Given the description of an element on the screen output the (x, y) to click on. 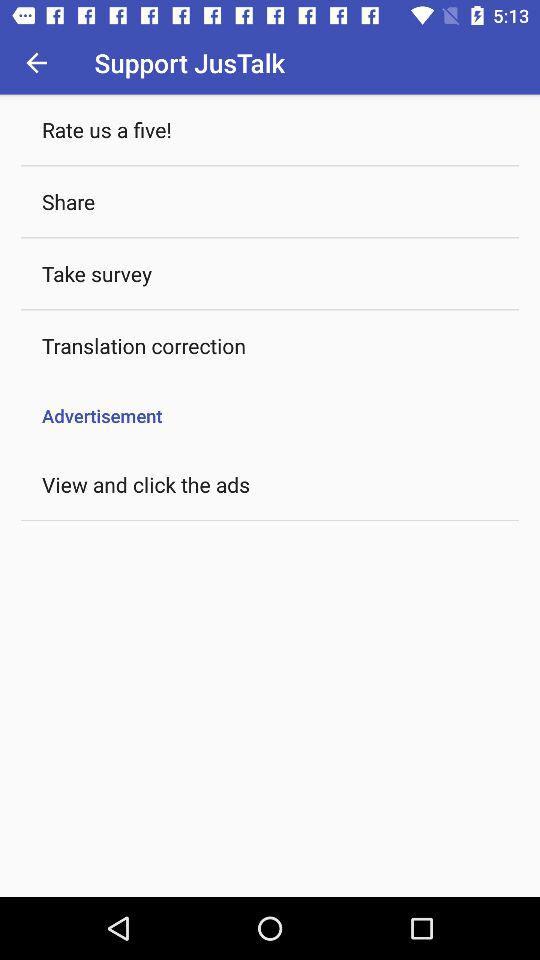
click the icon next to the support justalk (36, 62)
